Given the description of an element on the screen output the (x, y) to click on. 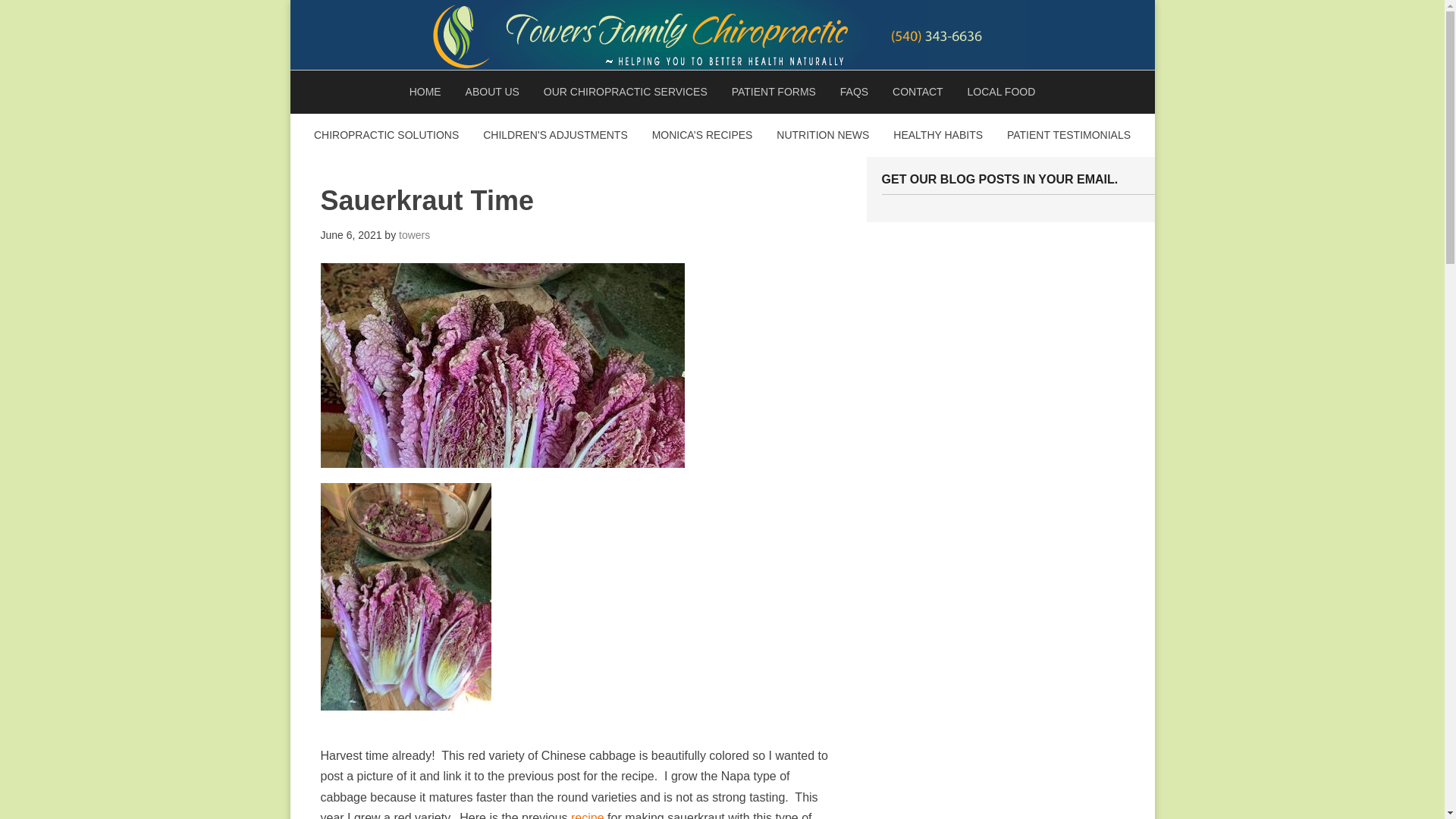
TOWERS FAMILY CHIROPRACTOR (721, 34)
HOME (424, 91)
towers (413, 234)
HEALTHY HABITS (937, 135)
NUTRITION NEWS (822, 135)
CONTACT (917, 91)
PATIENT TESTIMONIALS (1068, 135)
OUR CHIROPRACTIC SERVICES (624, 91)
ABOUT US (491, 91)
Sauerkraut Time (426, 200)
PATIENT FORMS (773, 91)
FAQS (854, 91)
LOCAL FOOD (1001, 91)
recipe (588, 815)
CHIROPRACTIC SOLUTIONS (385, 135)
